Given the description of an element on the screen output the (x, y) to click on. 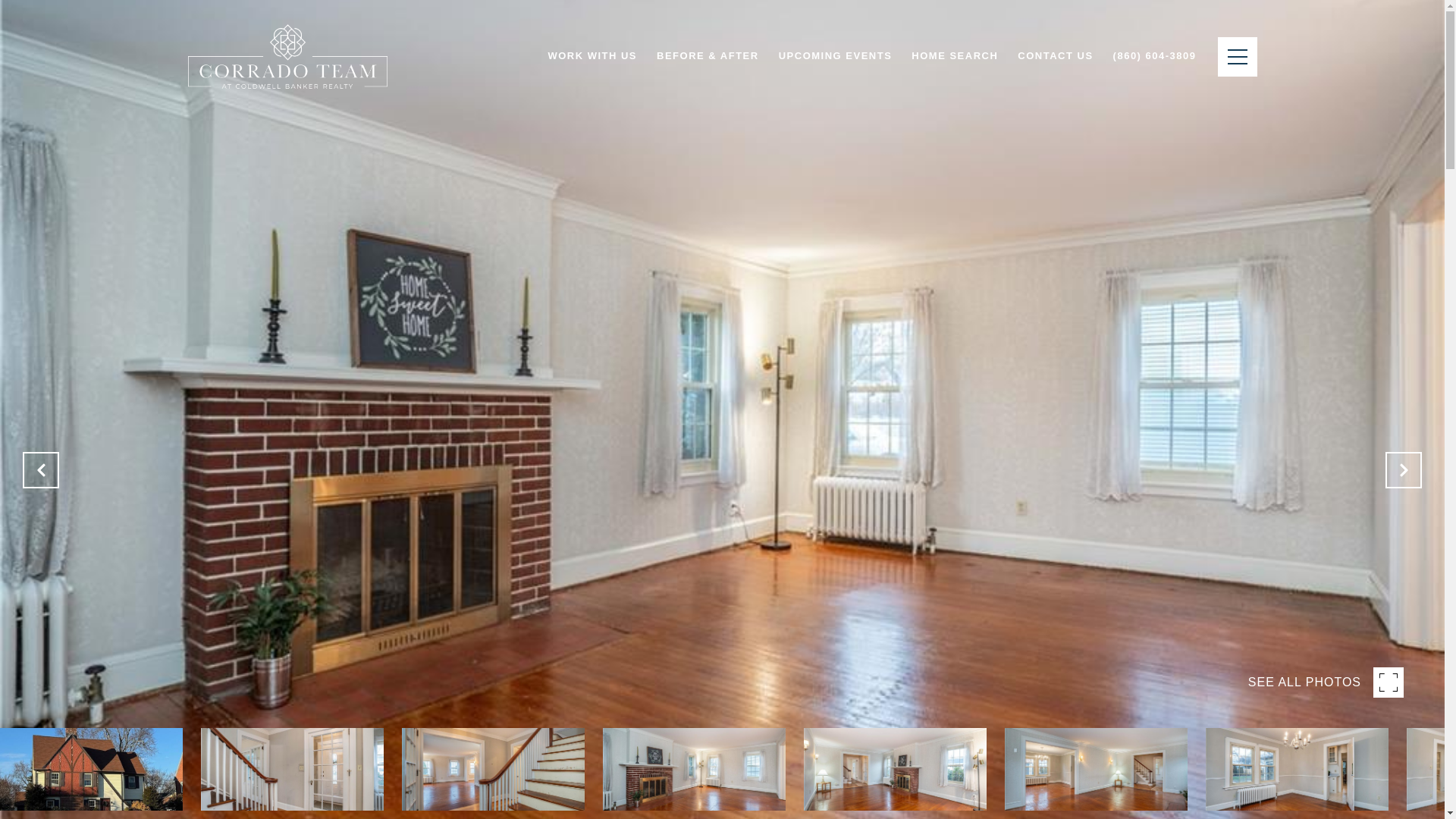
WORK WITH US (591, 55)
UPCOMING EVENTS (835, 55)
CONTACT US (1054, 55)
HOME SEARCH (954, 55)
